Given the description of an element on the screen output the (x, y) to click on. 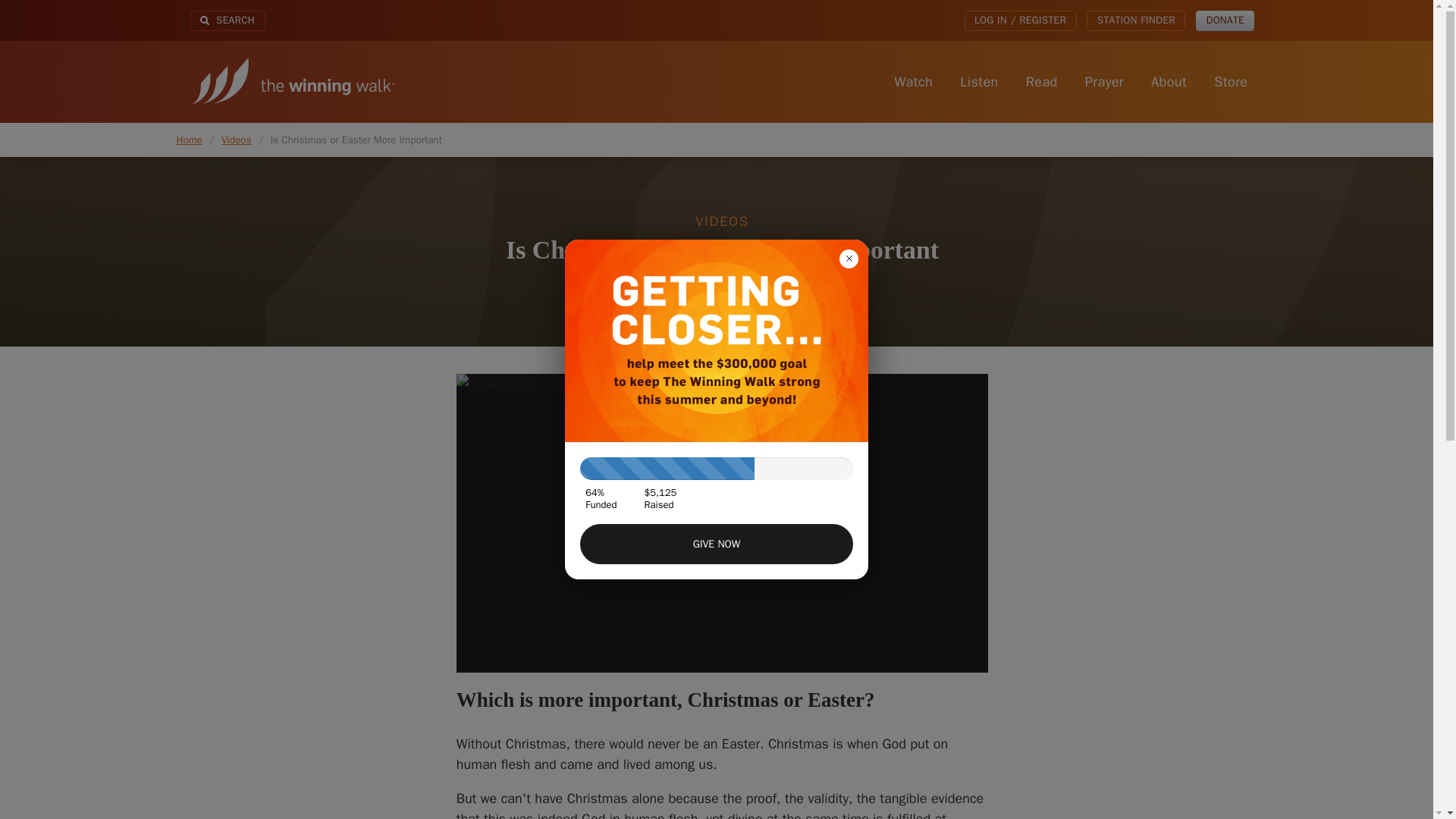
Listen (979, 81)
SEARCH (226, 20)
Read (1040, 81)
STATION FINDER (1135, 20)
DONATE (1225, 20)
Home (292, 82)
Watch (913, 81)
